Given the description of an element on the screen output the (x, y) to click on. 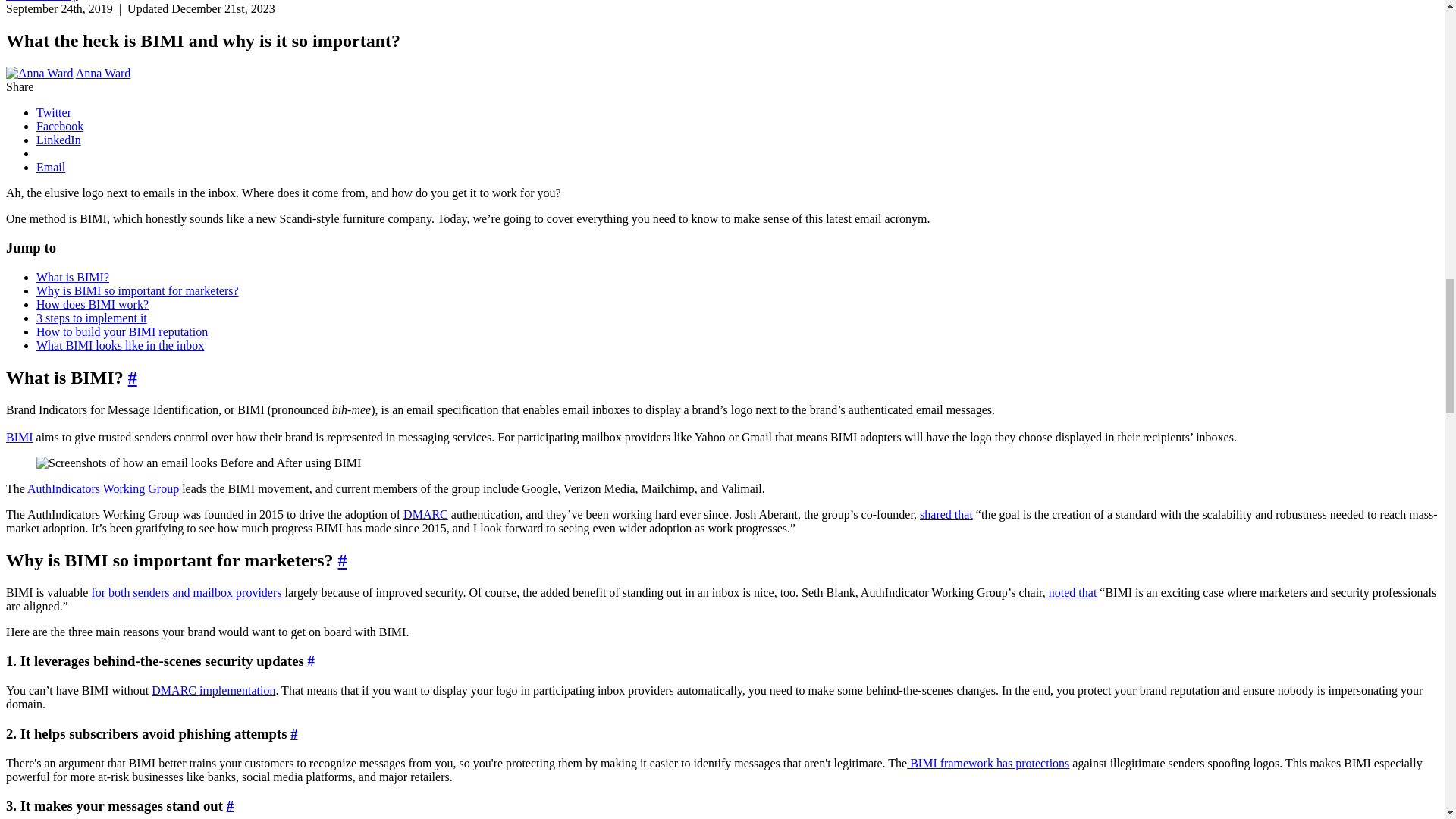
Share via email (50, 166)
Direct link to What is BIMI? (132, 377)
Share on Twitter (53, 112)
Direct link to Why is BIMI so important for marketers? (342, 560)
Direct link to 3. It makes your messages stand out (229, 805)
Share on LinkedIn (58, 139)
Share on Facebook (59, 125)
